Given the description of an element on the screen output the (x, y) to click on. 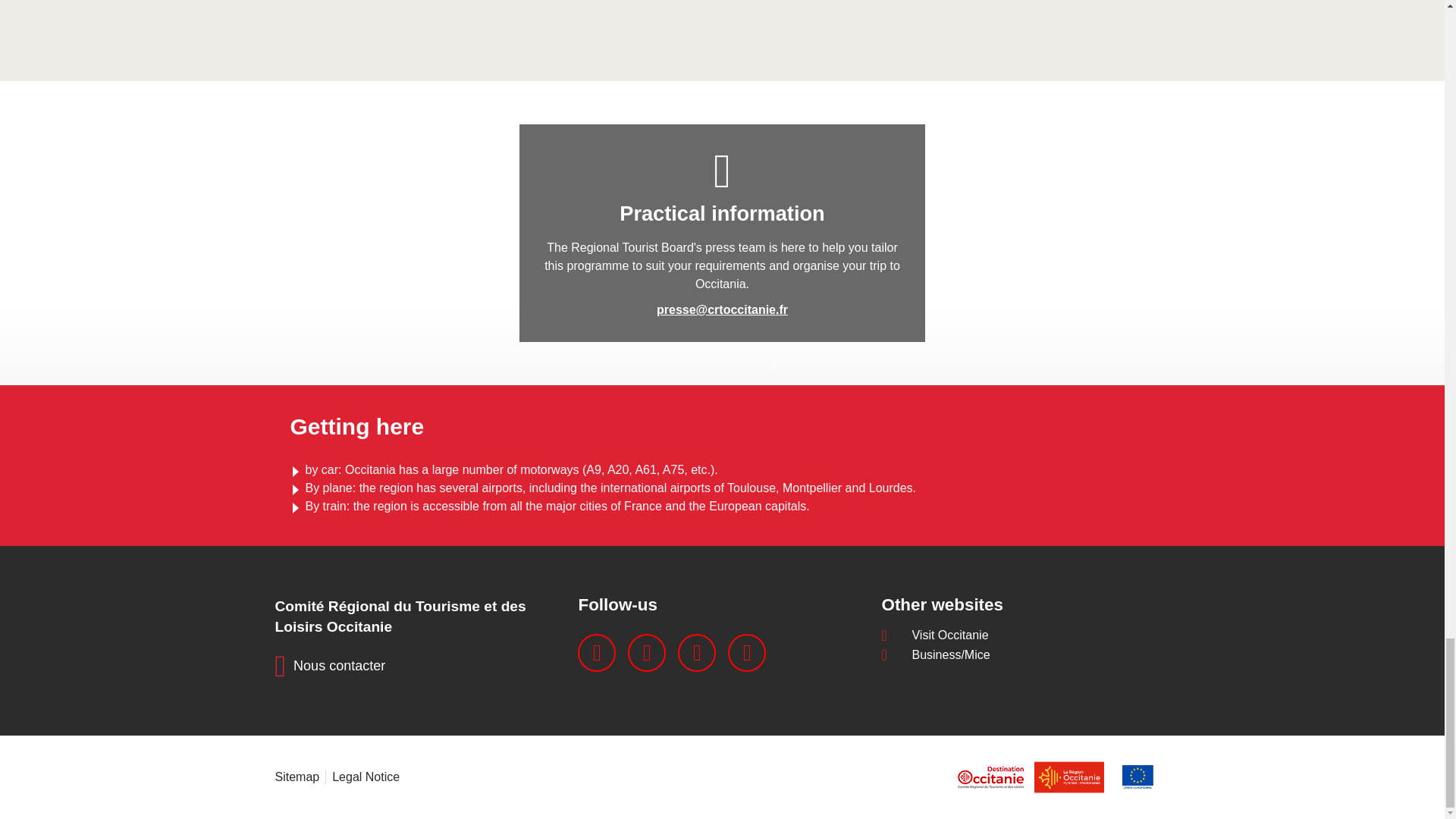
Legal Notice (364, 777)
Sitemap (296, 777)
Nous contacter (330, 666)
Visit Occitanie (1024, 635)
